Given the description of an element on the screen output the (x, y) to click on. 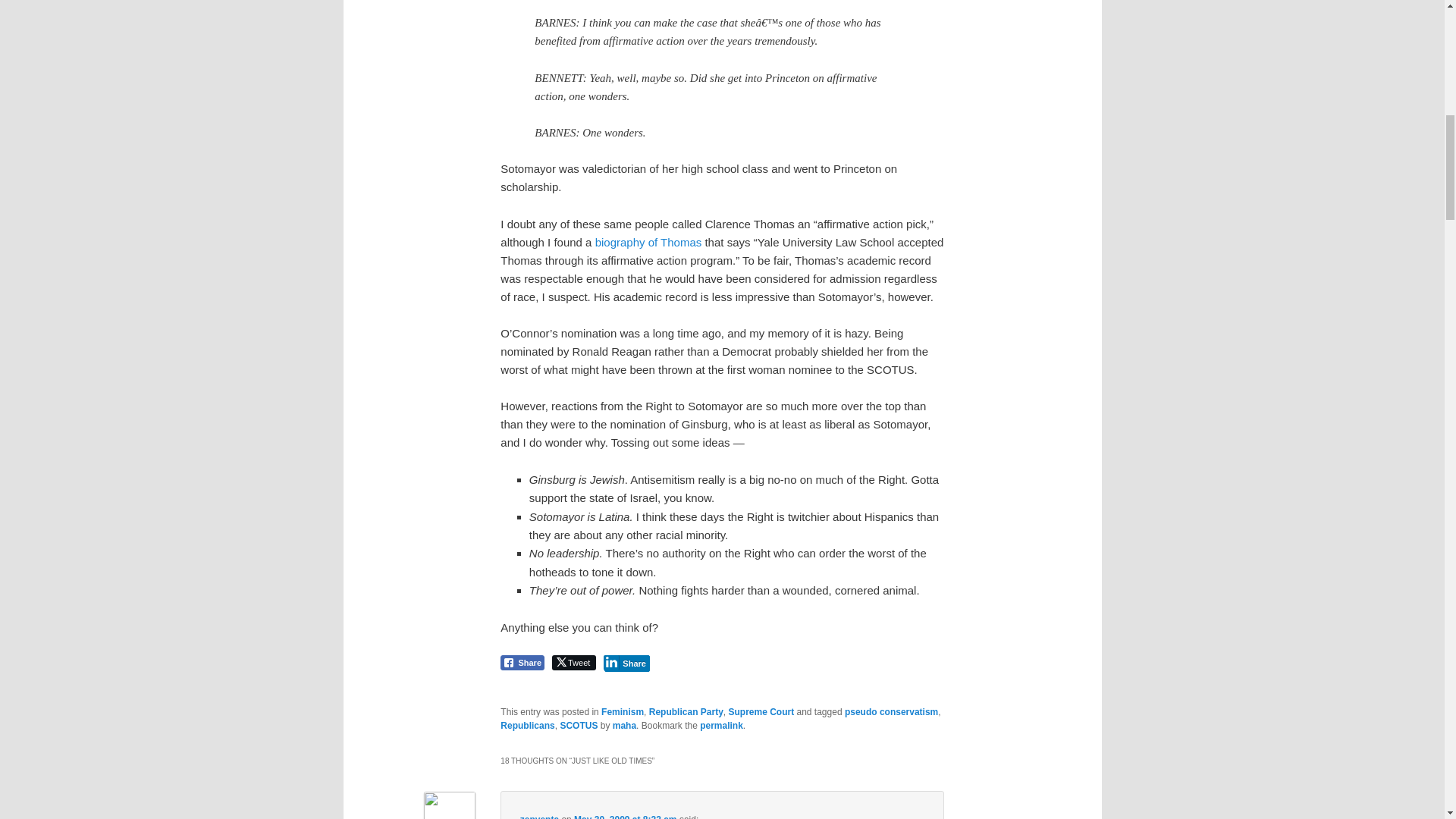
Republican Party (686, 711)
Permalink to Just Like Old Times (721, 725)
permalink (721, 725)
Tweet (573, 662)
May 30, 2009 at 8:22 am (625, 816)
maha (624, 725)
pseudo conservatism (890, 711)
Feminism (622, 711)
Share (522, 662)
zenyenta (539, 816)
